Given the description of an element on the screen output the (x, y) to click on. 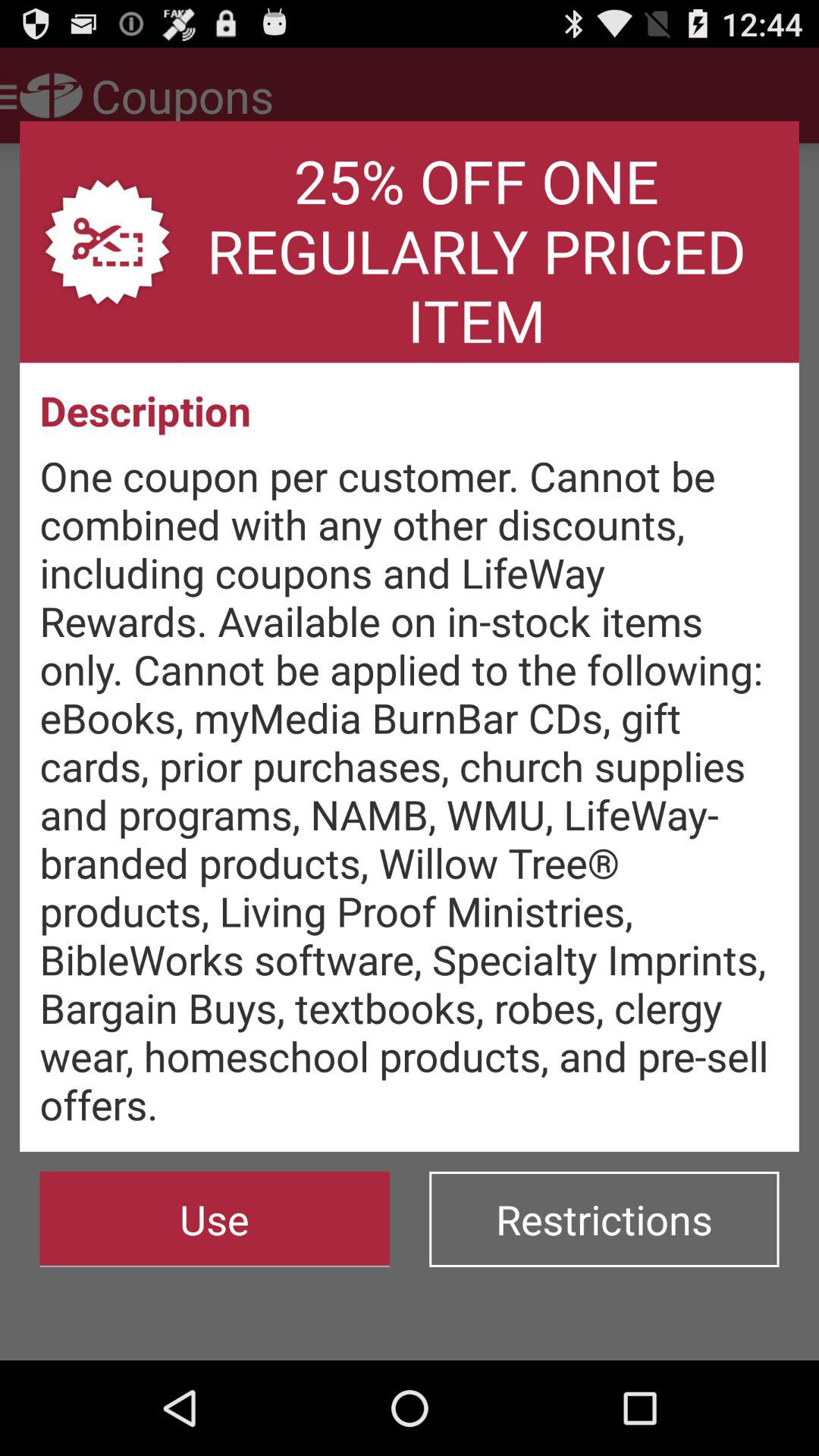
click use (214, 1219)
